Given the description of an element on the screen output the (x, y) to click on. 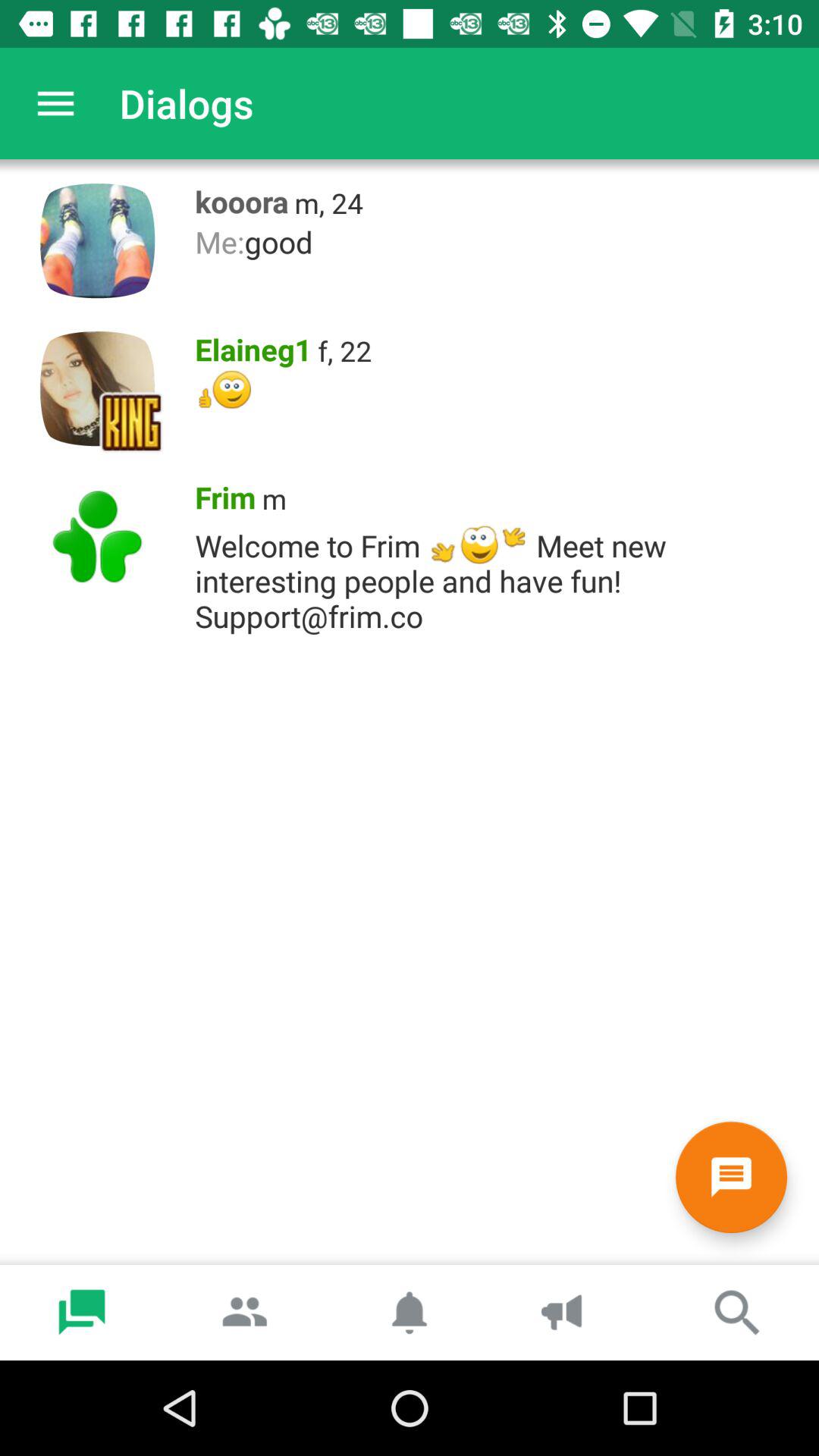
jump until me:good item (499, 241)
